Given the description of an element on the screen output the (x, y) to click on. 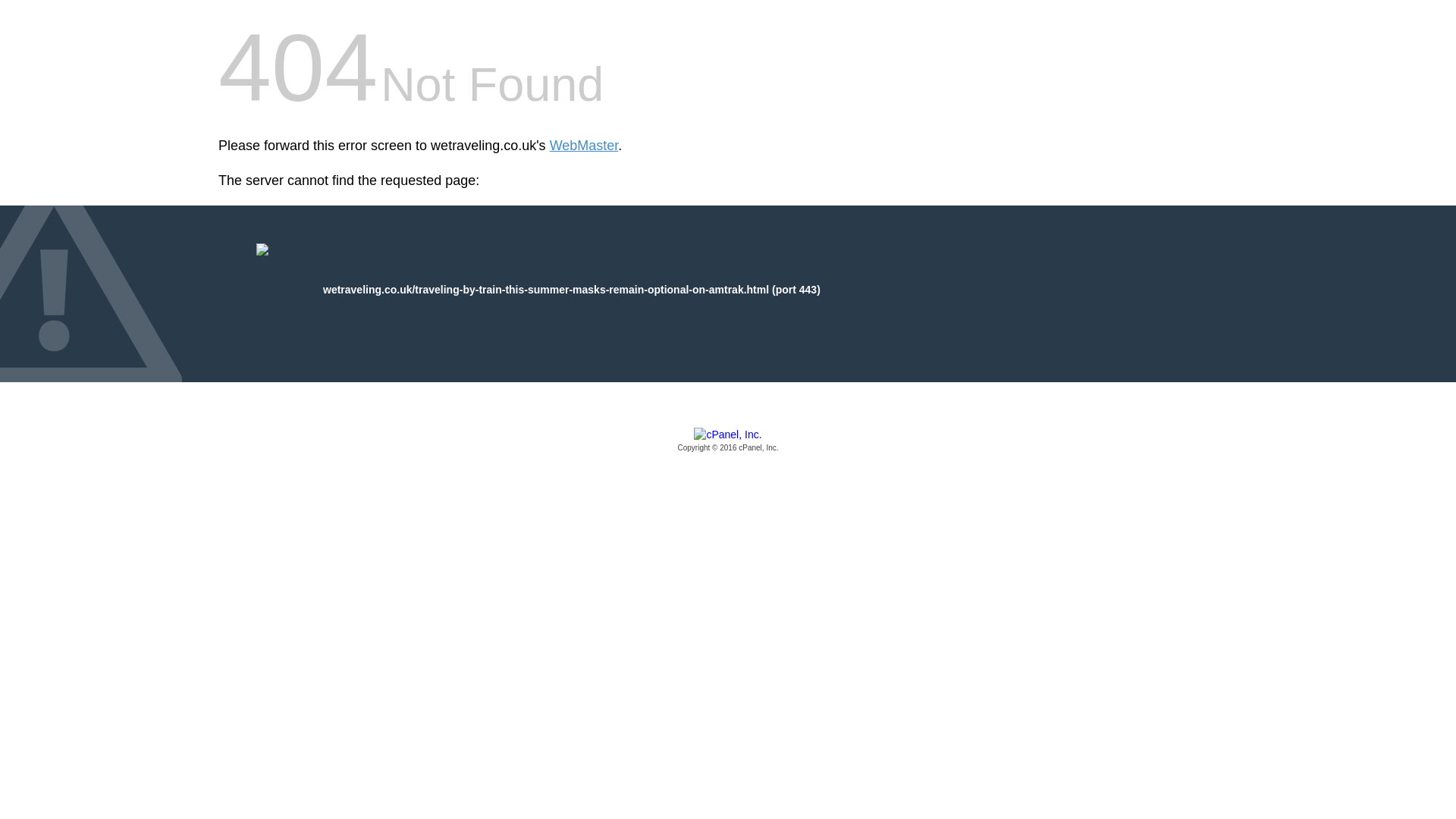
WebMaster (584, 145)
cPanel, Inc. (727, 440)
